Given the description of an element on the screen output the (x, y) to click on. 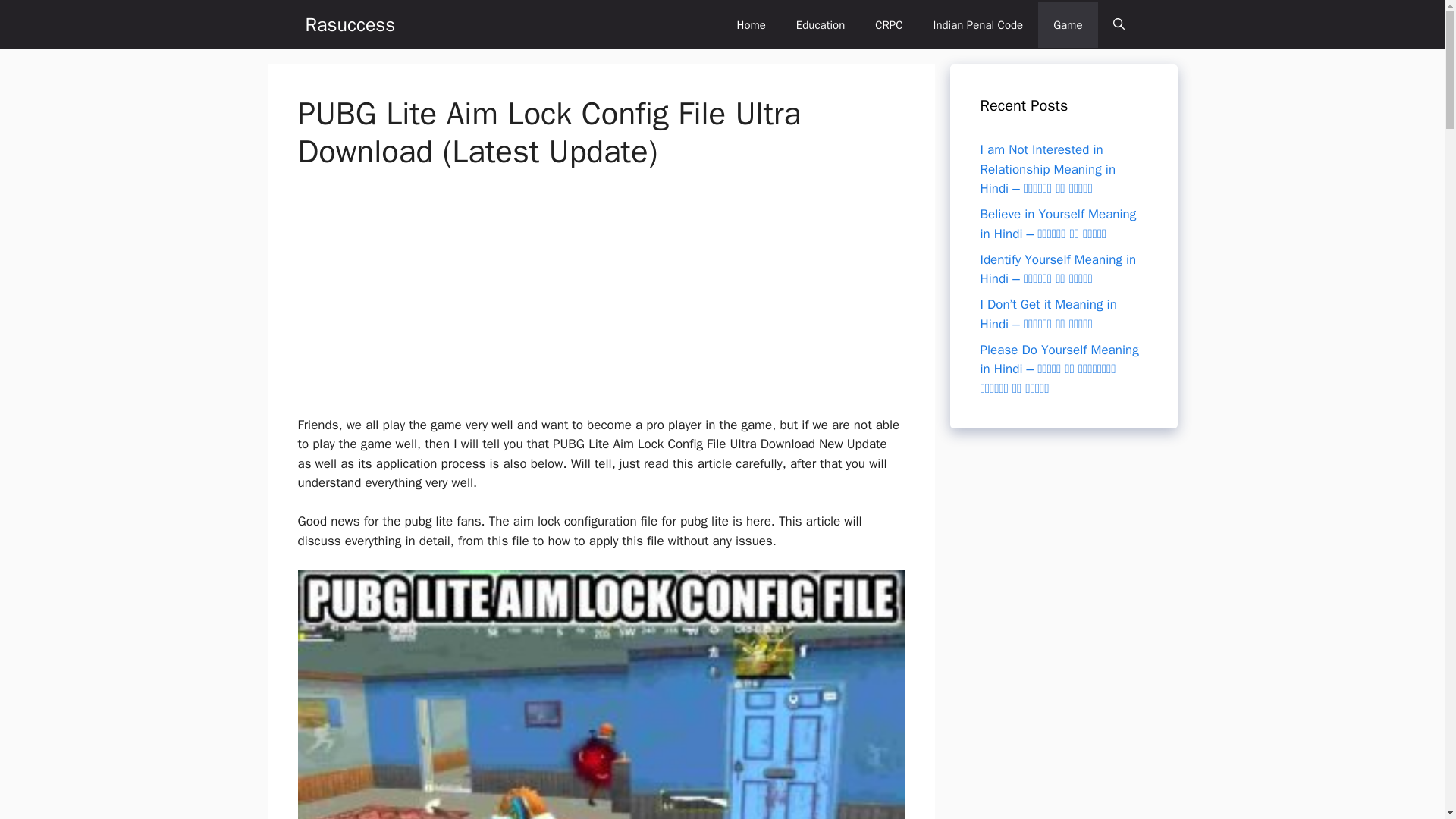
Advertisement (592, 303)
Indian Penal Code (978, 23)
Game (1067, 23)
Home (751, 23)
CRPC (888, 23)
Education (820, 23)
Rasuccess (349, 24)
